Given the description of an element on the screen output the (x, y) to click on. 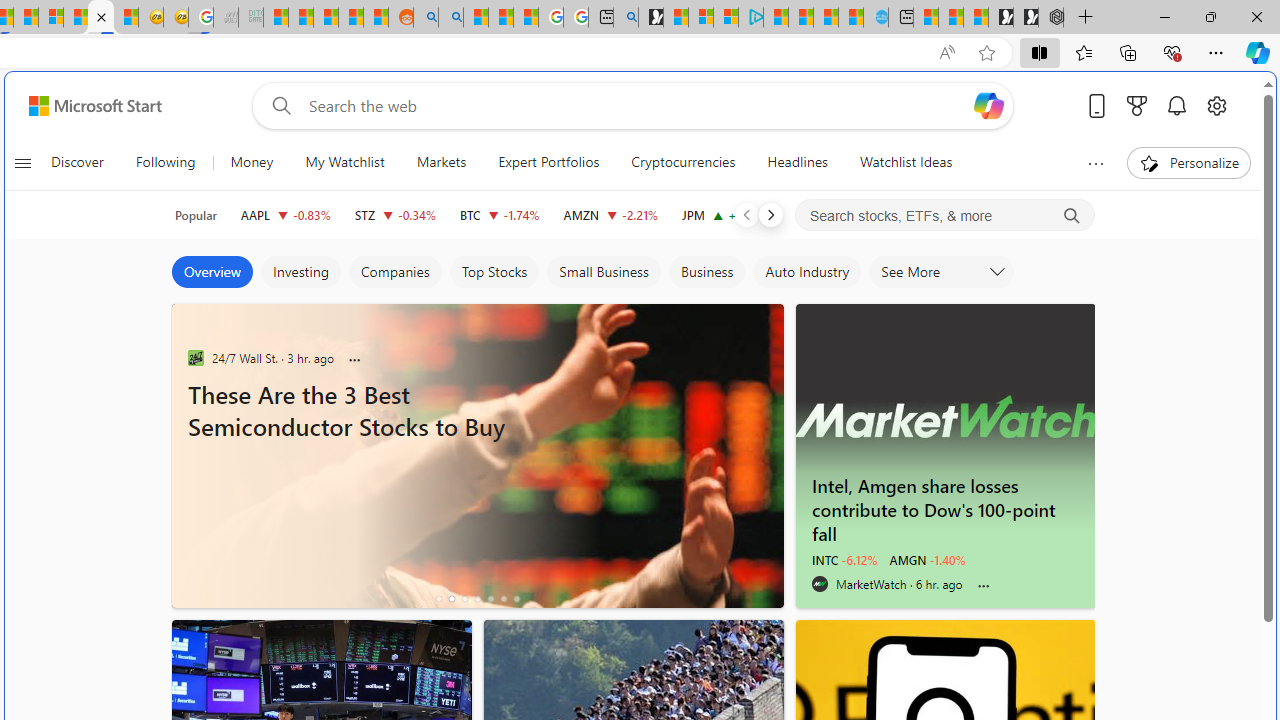
Business (707, 272)
Small Business (603, 272)
STZ CONSTELLATION BRANDS, INC. decrease 243.92 -0.82 -0.34% (395, 214)
Top Stocks (494, 272)
24/7 Wall St. (195, 357)
AMGN -1.40% (927, 560)
